Given the description of an element on the screen output the (x, y) to click on. 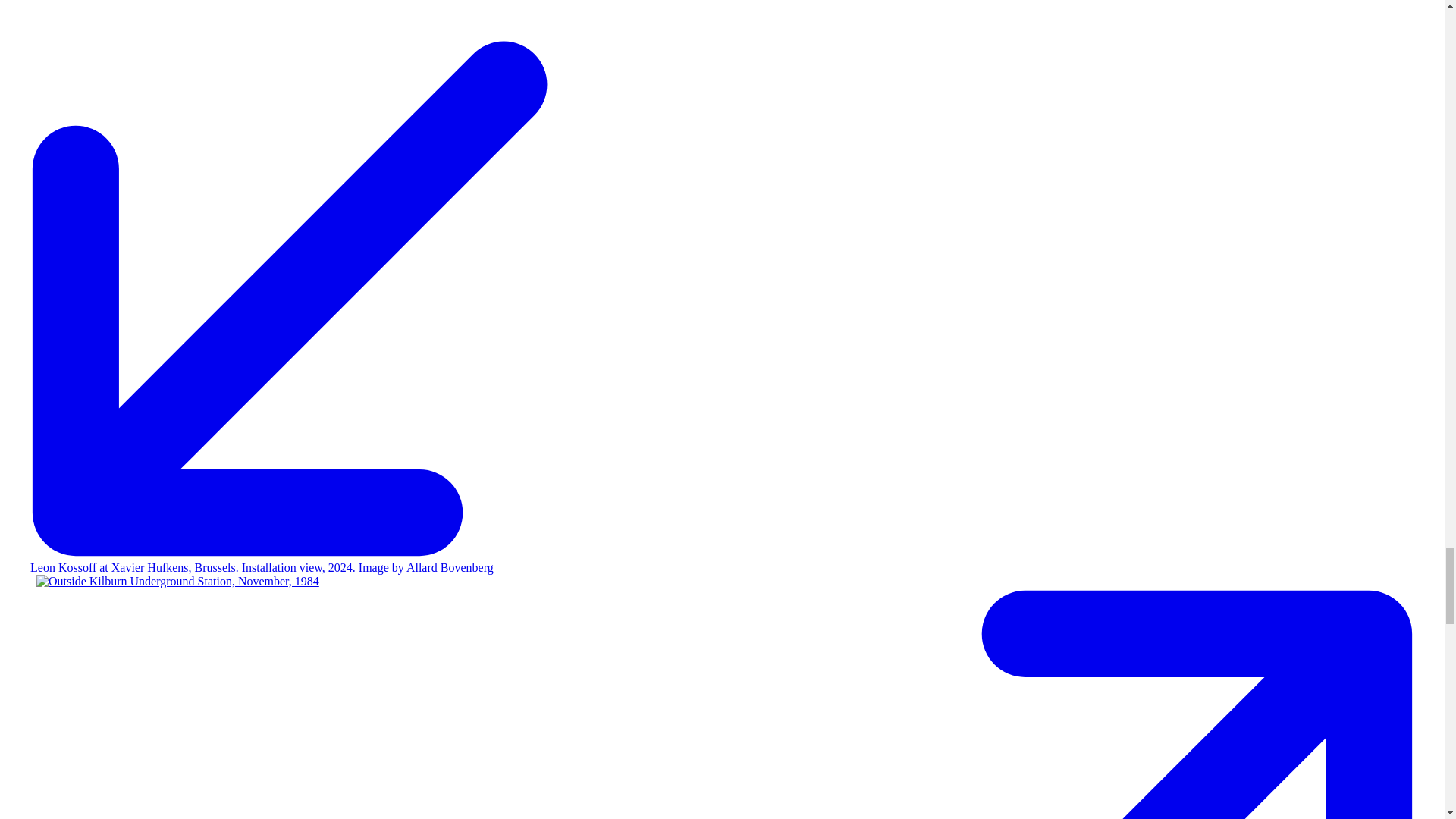
Outside Kilburn Underground Station, November, 1984 (177, 581)
